Given the description of an element on the screen output the (x, y) to click on. 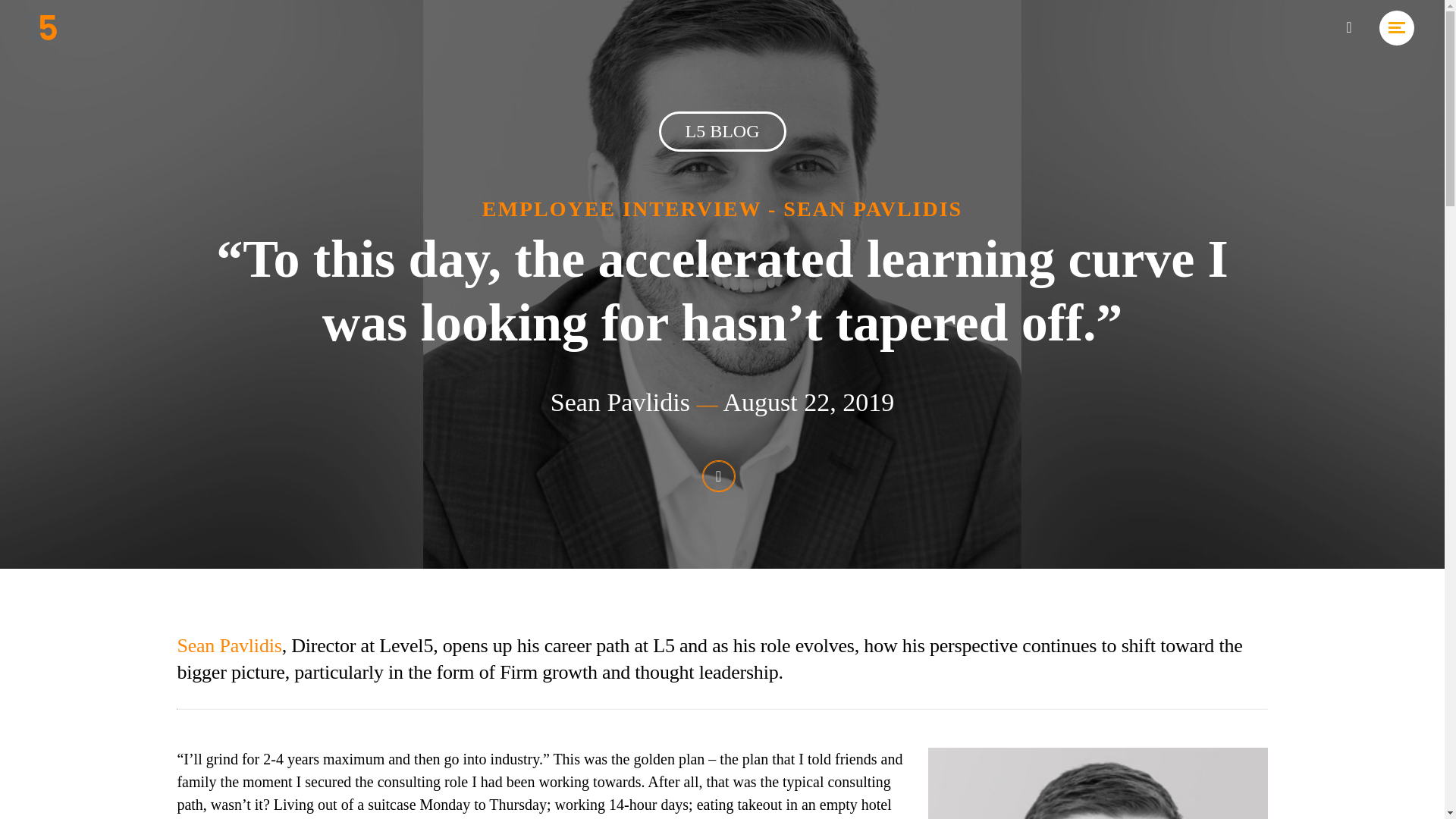
search (1348, 27)
Menu (1395, 27)
L5 BLOG (722, 131)
Sean Pavlidis (620, 402)
Sean Pavlidis (228, 645)
